Given the description of an element on the screen output the (x, y) to click on. 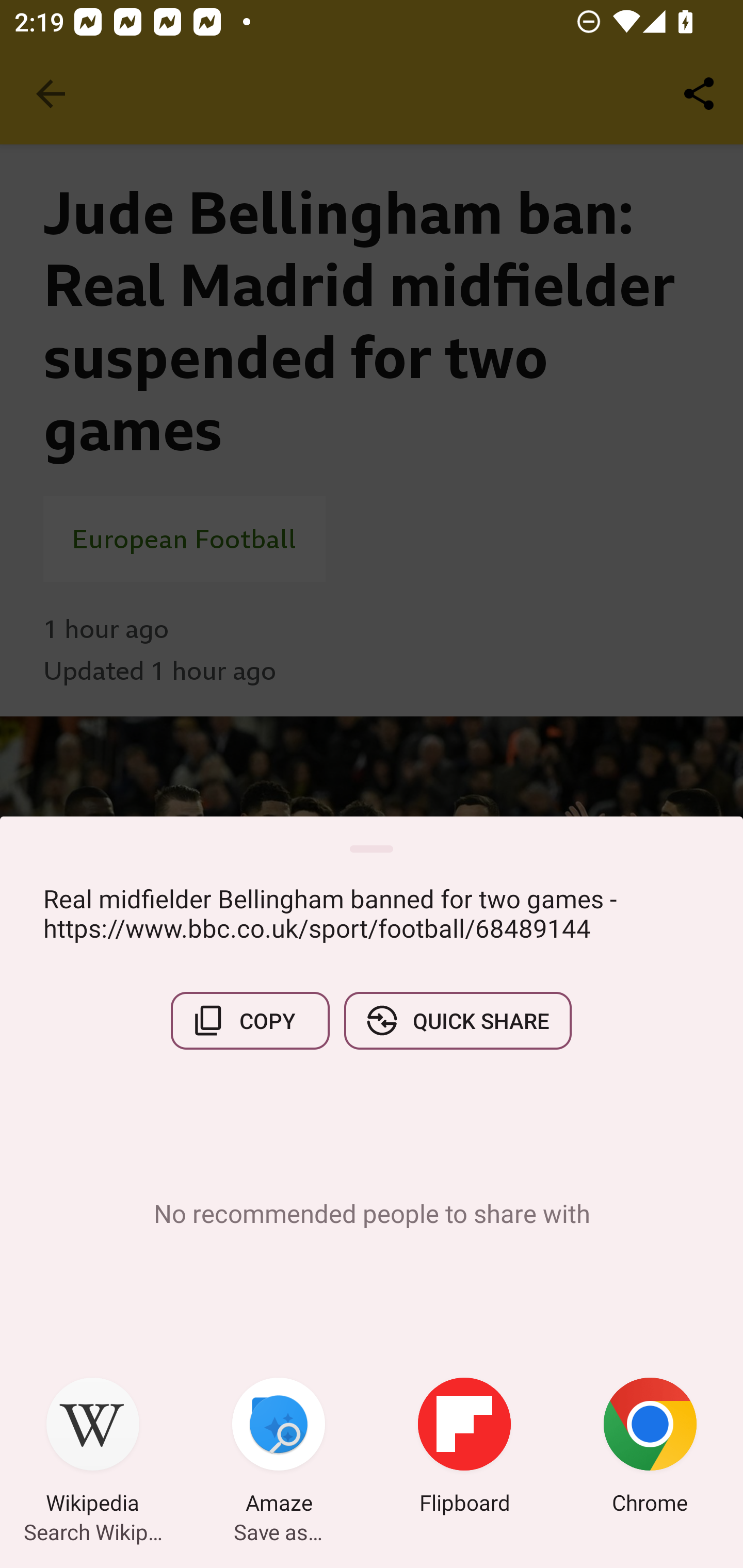
COPY (249, 1020)
QUICK SHARE (457, 1020)
Wikipedia Search Wikipedia (92, 1448)
Amaze Save as… (278, 1448)
Flipboard (464, 1448)
Chrome (650, 1448)
